Given the description of an element on the screen output the (x, y) to click on. 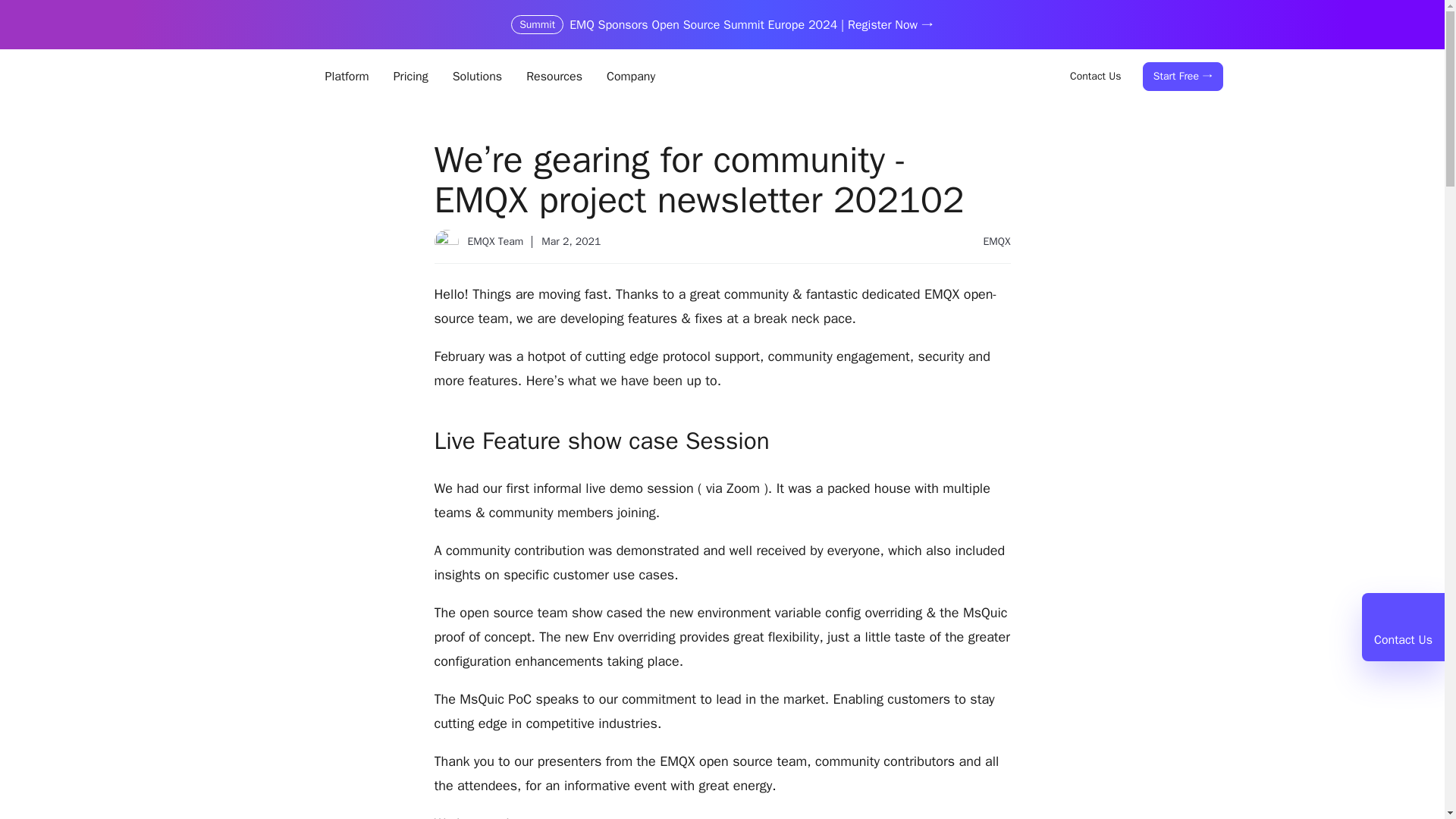
Pricing (411, 76)
